Given the description of an element on the screen output the (x, y) to click on. 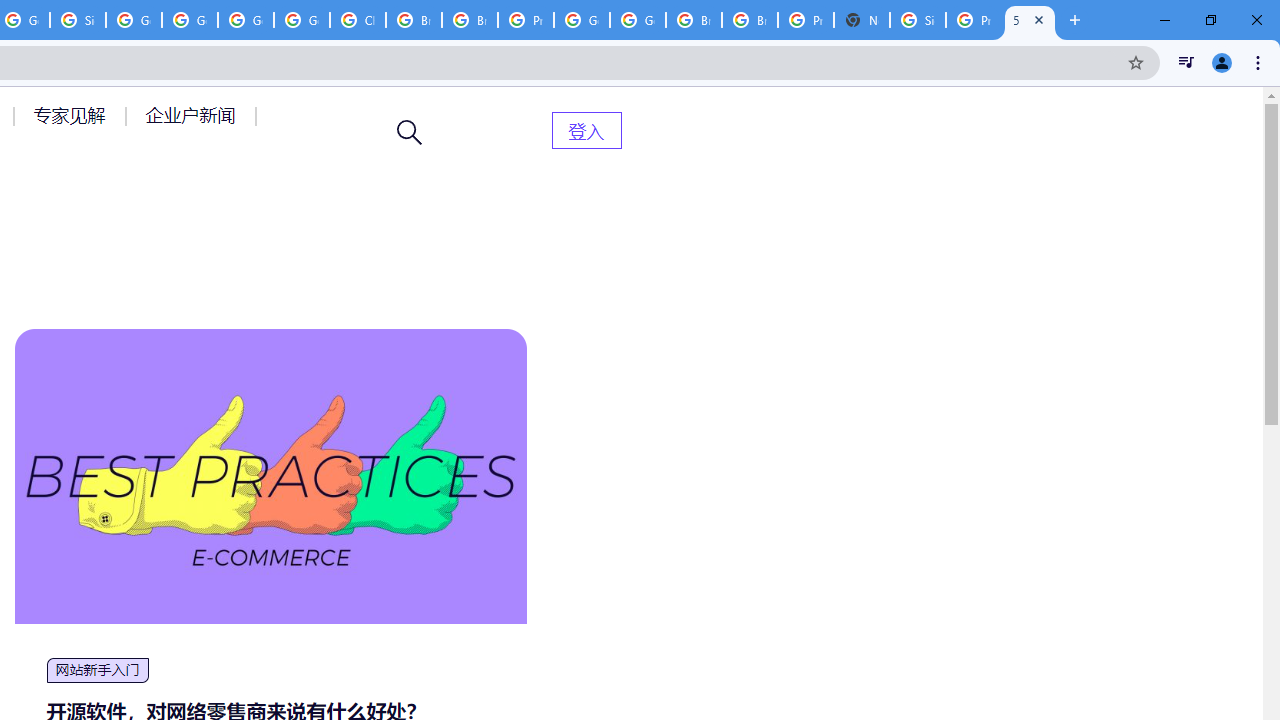
Browse Chrome as a guest - Computer - Google Chrome Help (693, 20)
Google Cloud Platform (582, 20)
AutomationID: menu-item-77765 (194, 115)
Restore (1210, 20)
Browse Chrome as a guest - Computer - Google Chrome Help (413, 20)
You (1221, 62)
Google Cloud Platform (637, 20)
Browse Chrome as a guest - Computer - Google Chrome Help (749, 20)
Sign in - Google Accounts (917, 20)
AutomationID: menu-item-82399 (586, 129)
Close (1039, 19)
